Given the description of an element on the screen output the (x, y) to click on. 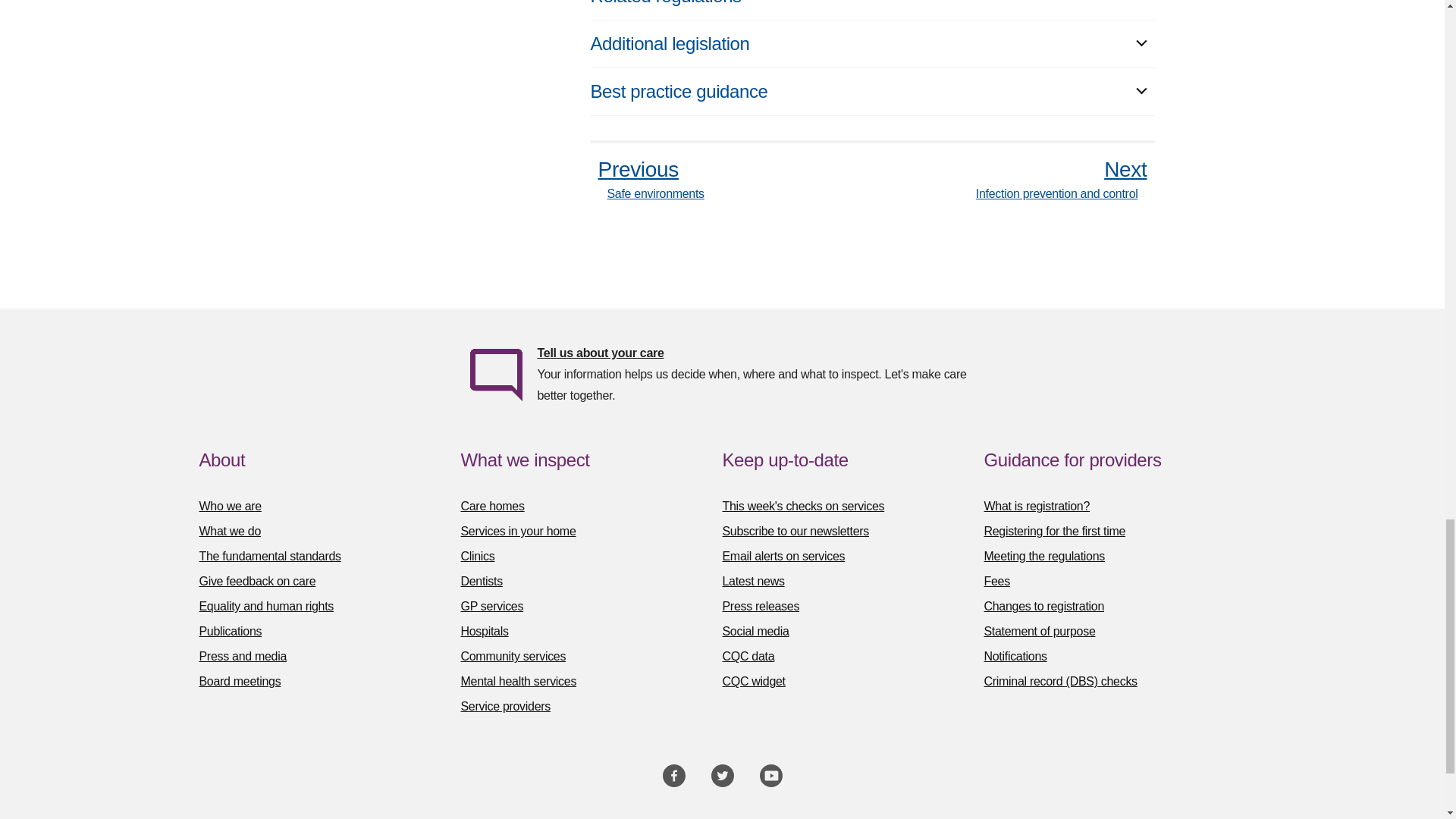
Go to next page (1064, 179)
Go to previous page (646, 179)
